Given the description of an element on the screen output the (x, y) to click on. 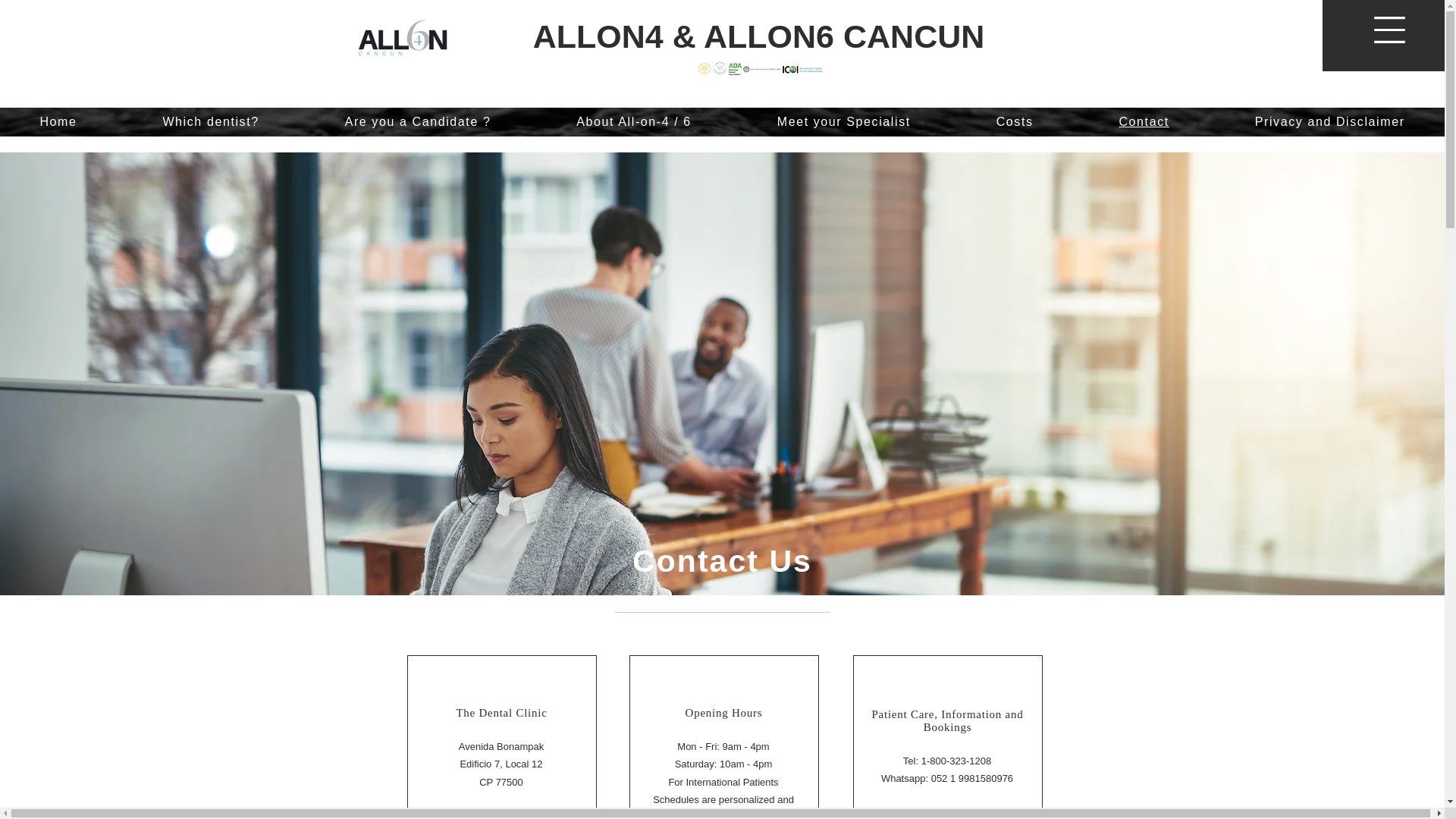
Meet your Specialist (843, 121)
Costs (1014, 121)
Home (58, 121)
Which dentist? (210, 121)
Are you a Candidate ? (417, 121)
Contact (1143, 121)
Privacy and Disclaimer (1329, 121)
